Given the description of an element on the screen output the (x, y) to click on. 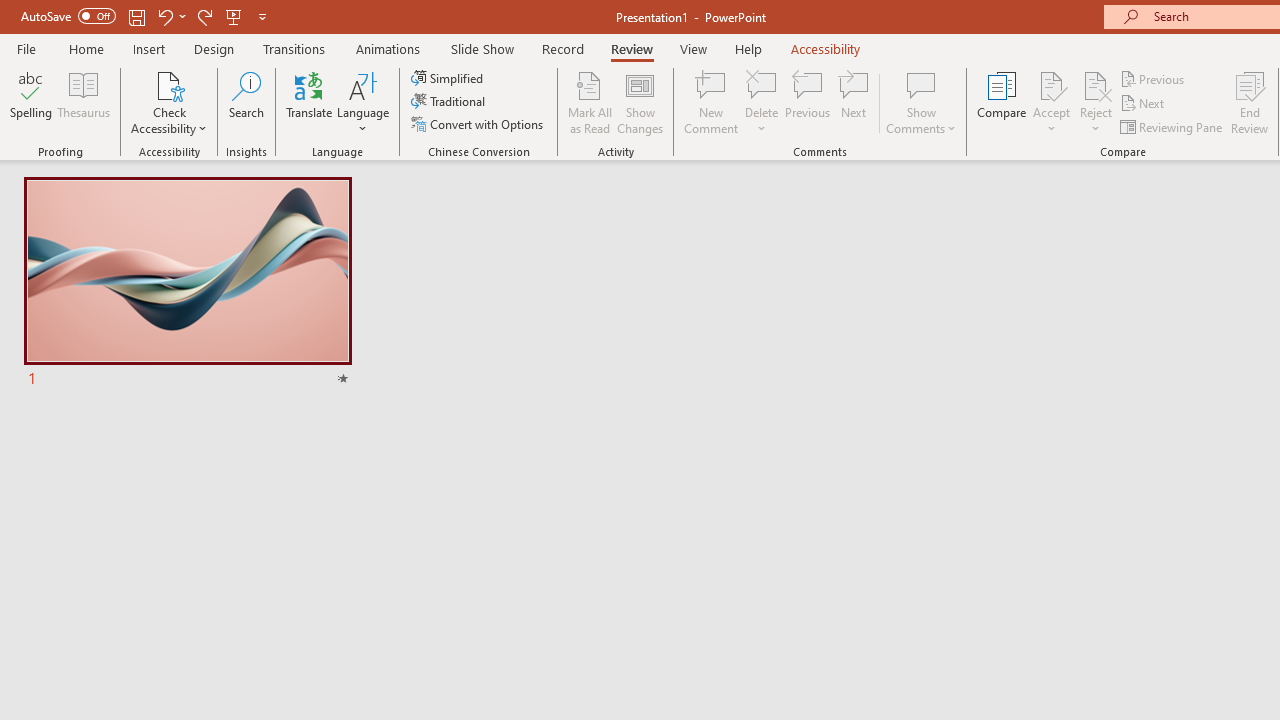
Search (246, 102)
Simplified (449, 78)
